Given the description of an element on the screen output the (x, y) to click on. 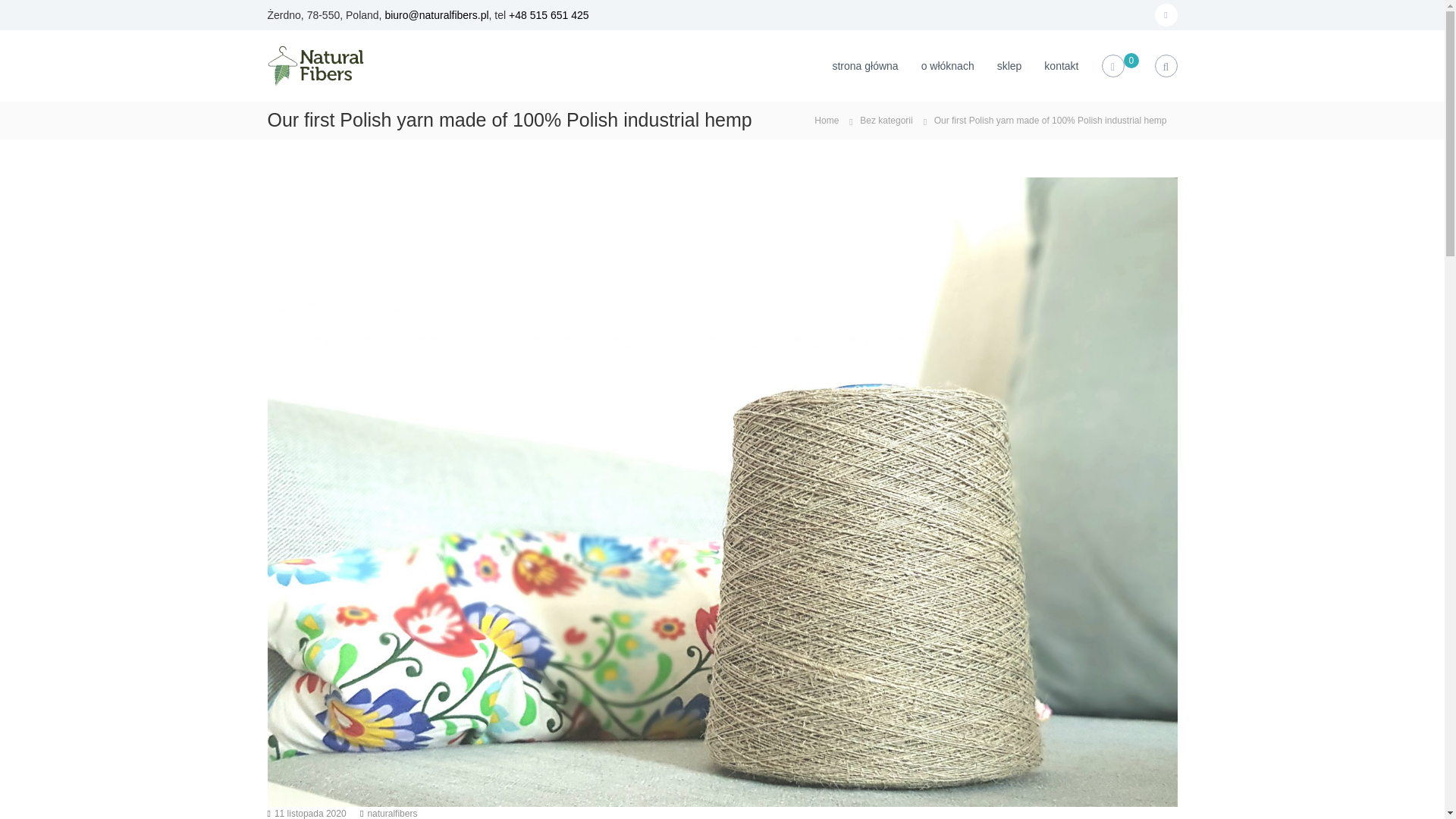
sklep (1009, 64)
Home (825, 119)
11 listopada 2020 (310, 813)
facebook (1165, 15)
Home (825, 119)
Bez kategorii (886, 120)
naturalfibers (391, 813)
kontakt (1060, 64)
